Given the description of an element on the screen output the (x, y) to click on. 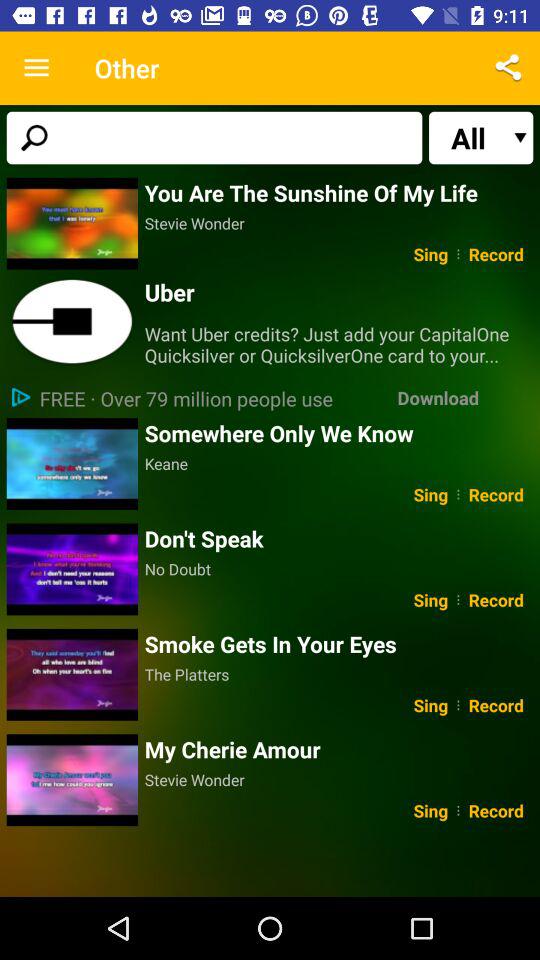
see more information (72, 322)
